Given the description of an element on the screen output the (x, y) to click on. 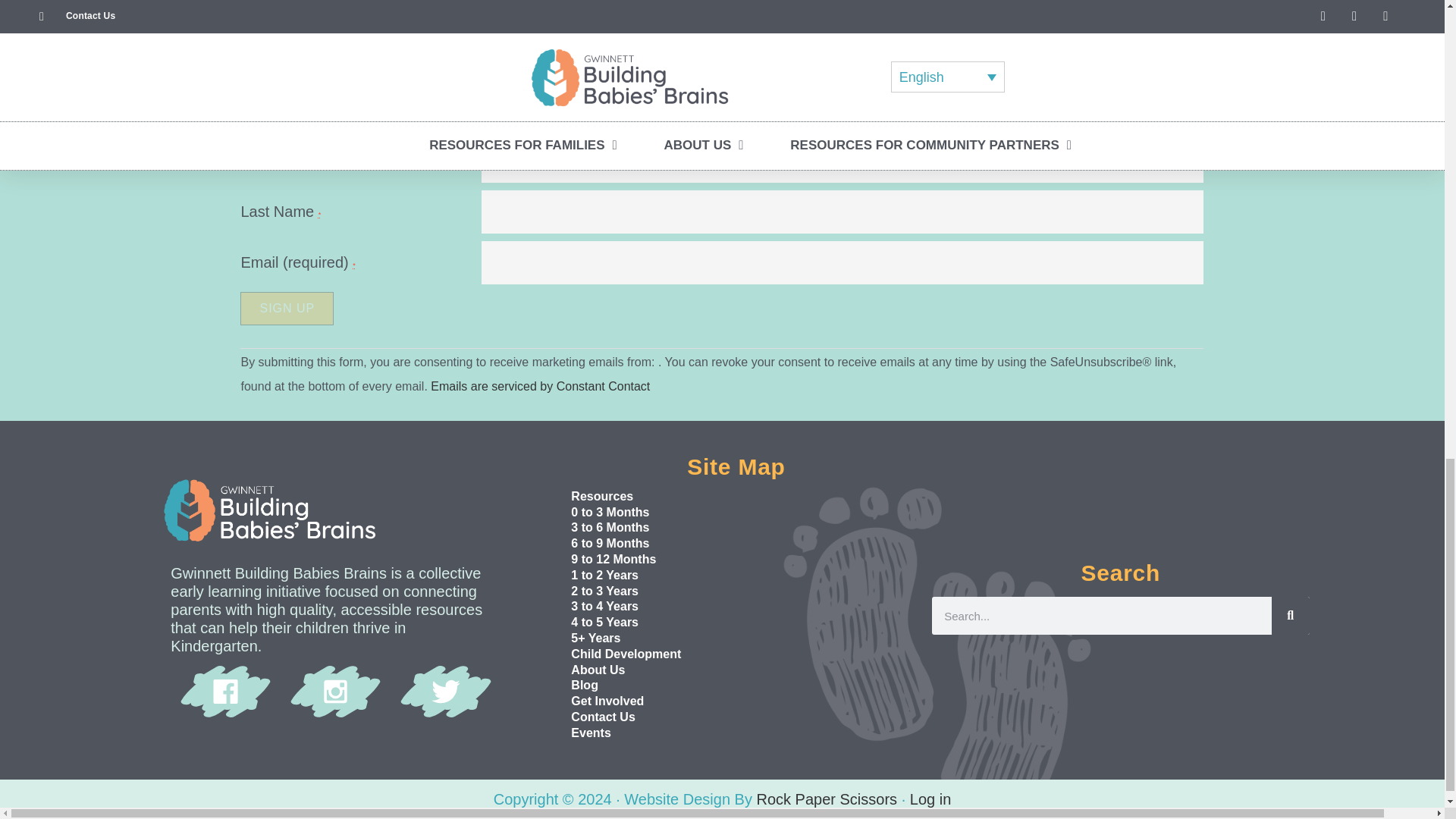
Sign up (286, 308)
